Given the description of an element on the screen output the (x, y) to click on. 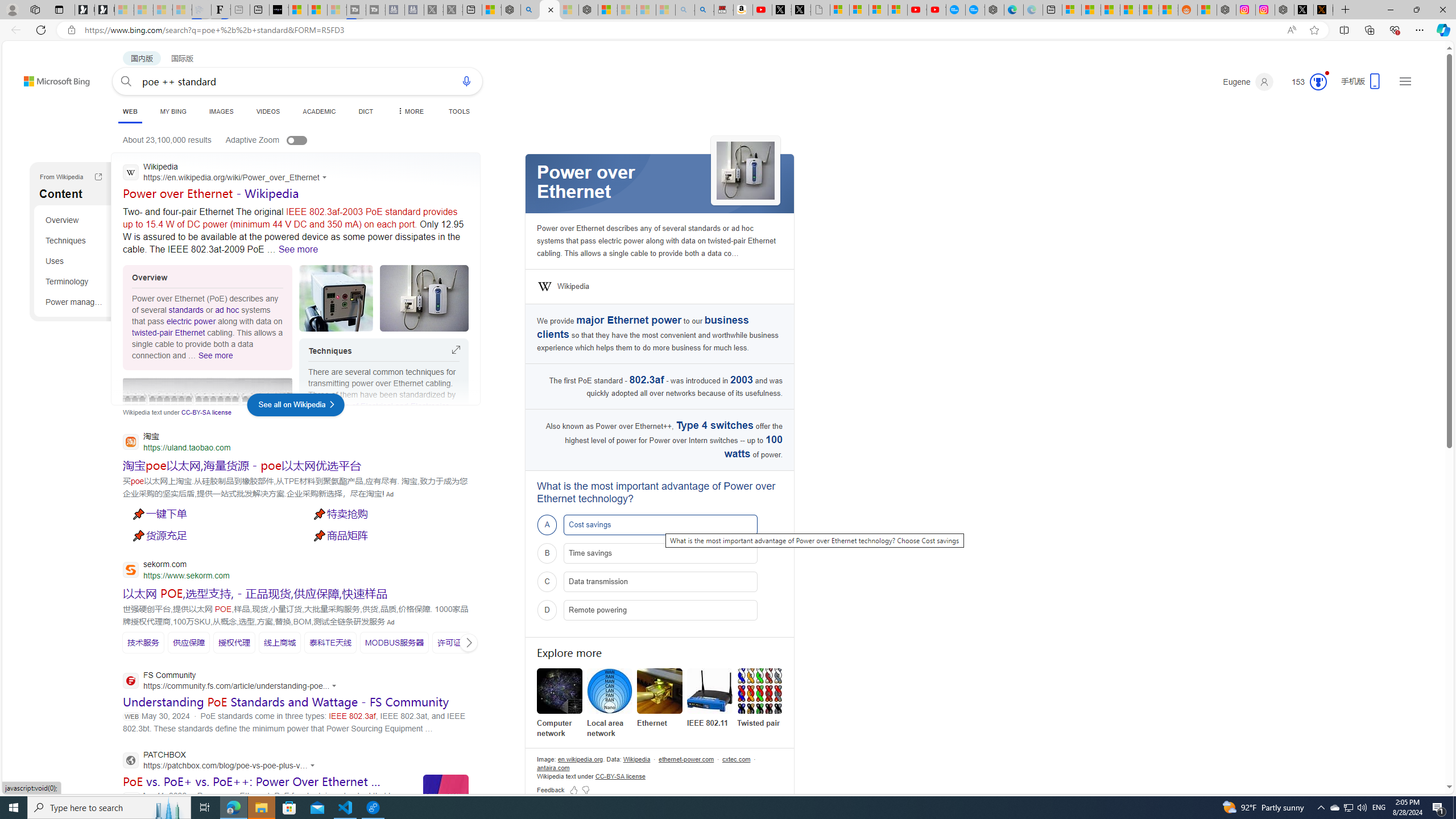
Explore more (660, 653)
TOOLS (459, 111)
Gloom - YouTube (916, 9)
Back to Bing search (50, 78)
DICT (365, 111)
Local area network (608, 691)
C Data transmission (660, 581)
Eugene (1248, 81)
amazon - Search - Sleeping (684, 9)
